Given the description of an element on the screen output the (x, y) to click on. 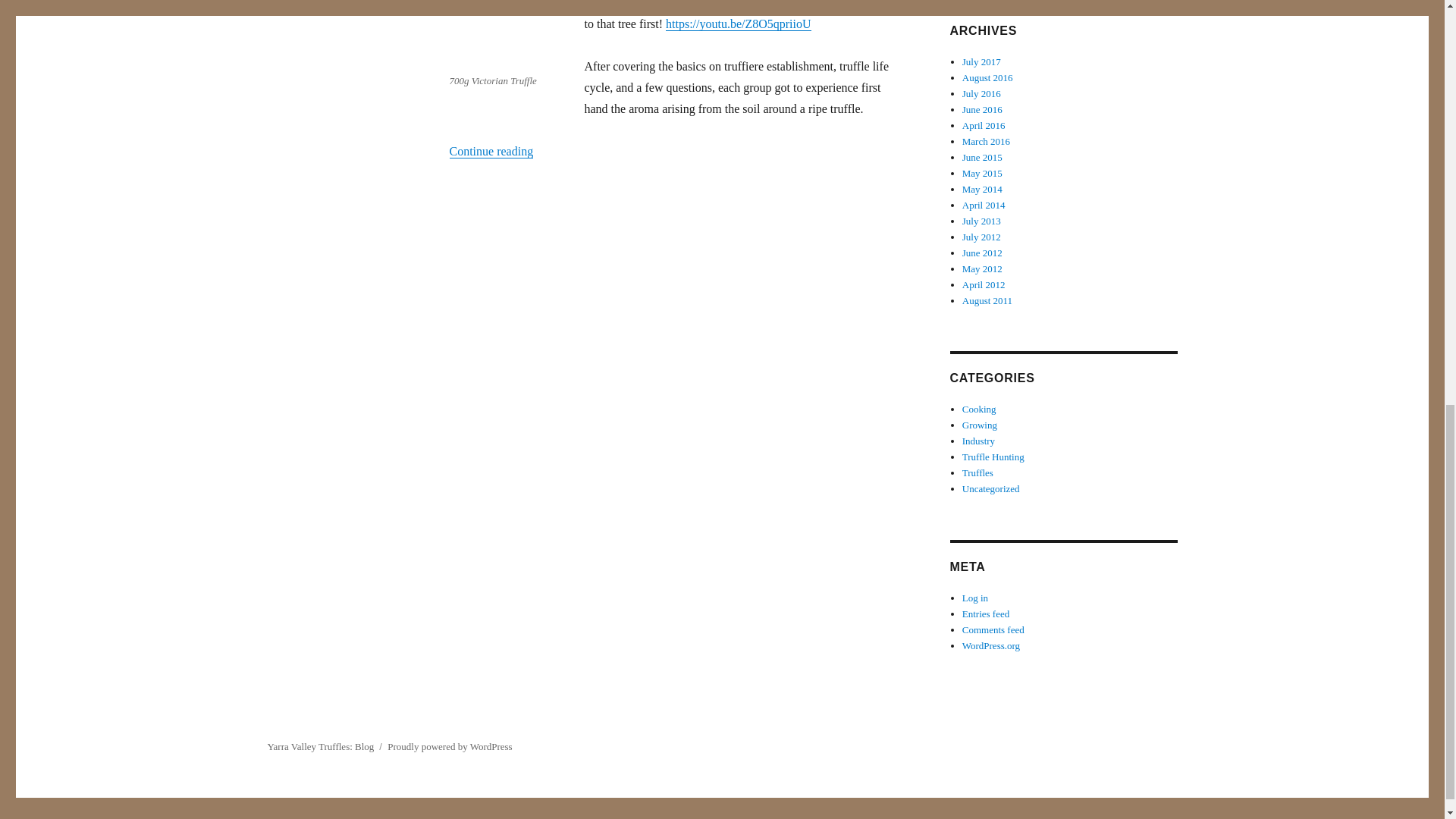
Cooking (978, 408)
July 2017 (981, 61)
August 2011 (986, 300)
May 2014 (982, 188)
June 2015 (982, 156)
April 2014 (984, 204)
June 2012 (982, 252)
August 2016 (987, 77)
April 2012 (984, 284)
July 2013 (981, 220)
